Given the description of an element on the screen output the (x, y) to click on. 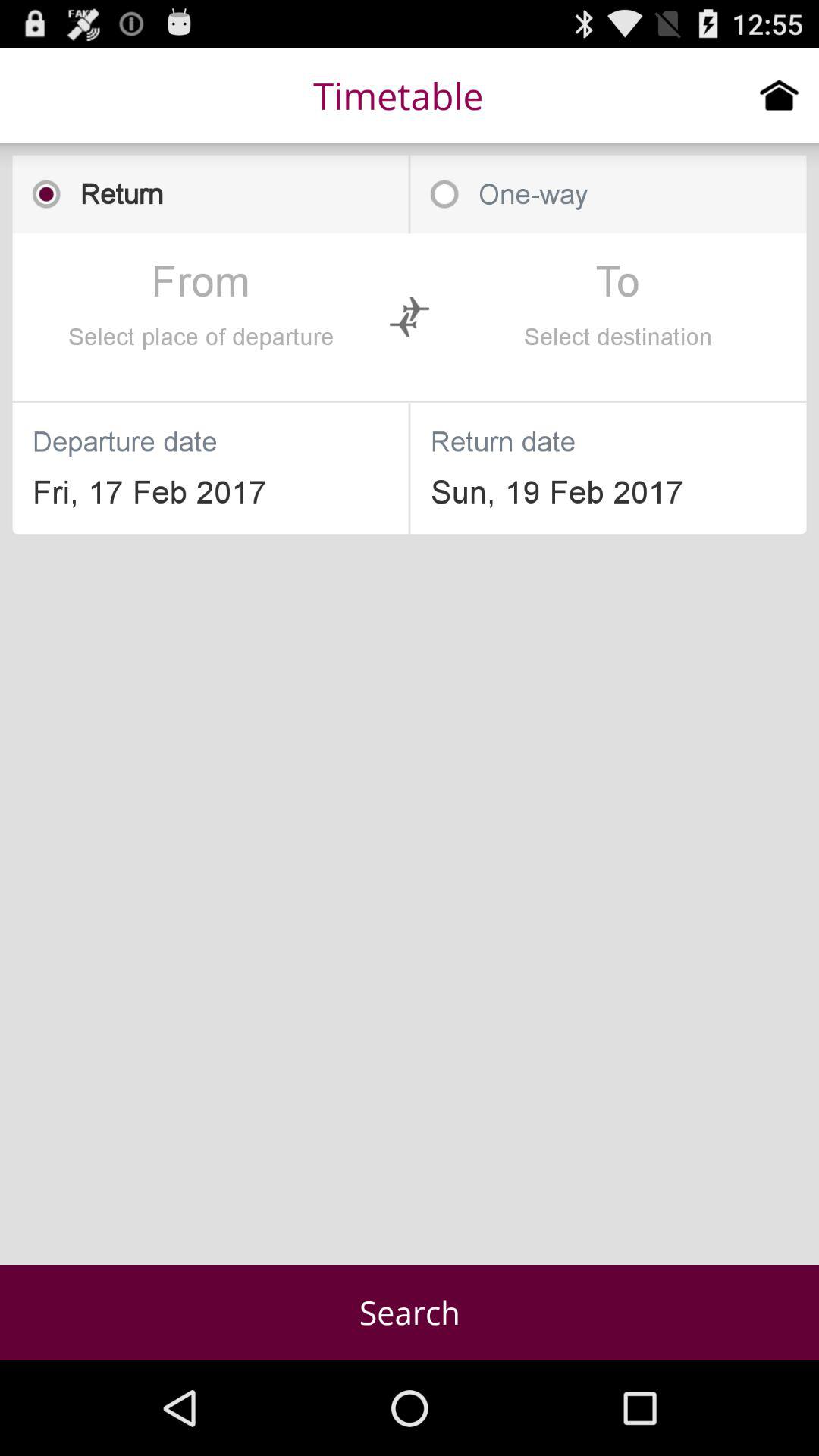
launch the item above the one-way (779, 95)
